Given the description of an element on the screen output the (x, y) to click on. 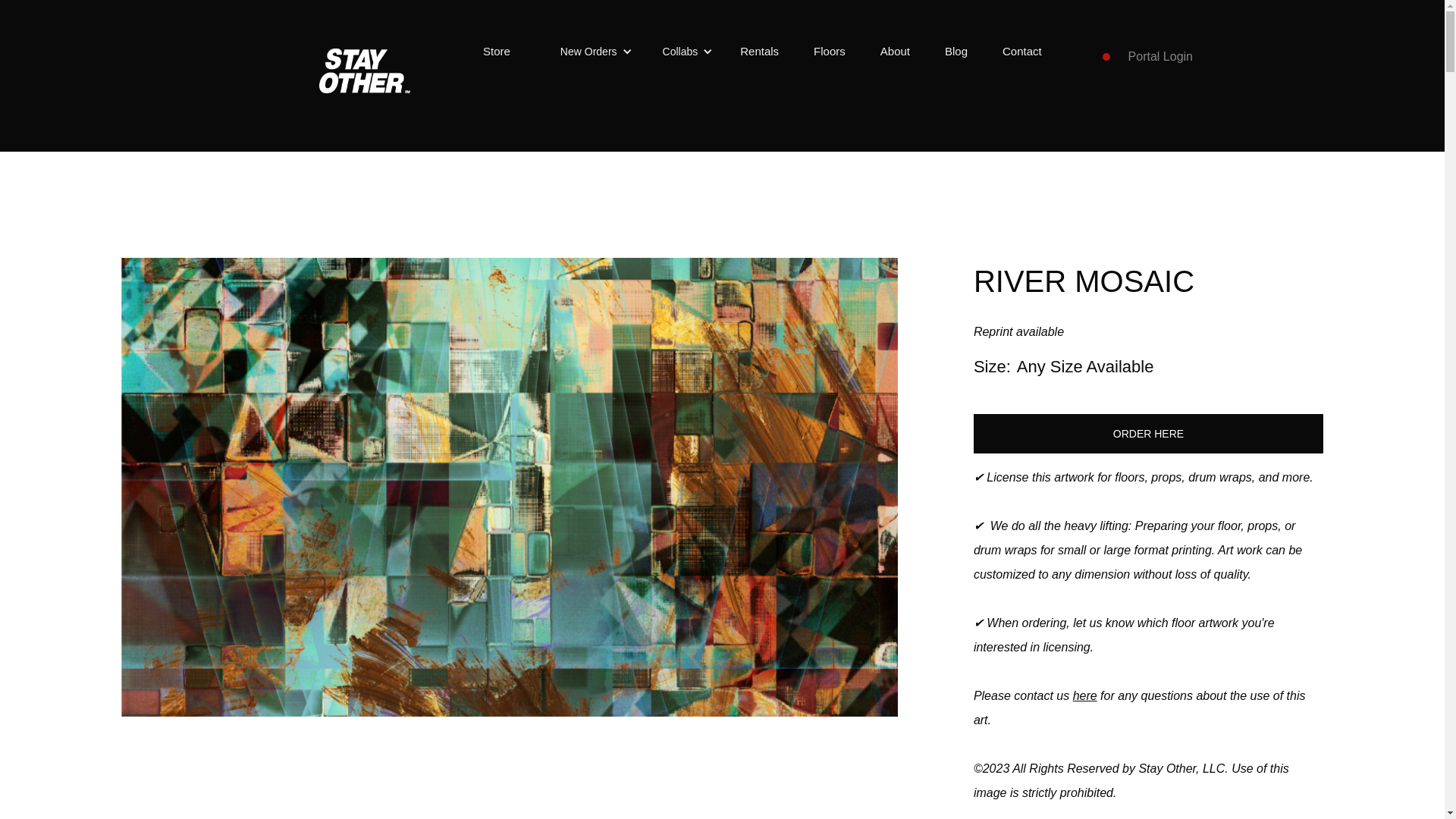
About (895, 51)
Rentals (758, 51)
Floors (829, 51)
Portal Login (1160, 57)
ORDER HERE (1148, 433)
here (1085, 695)
Store (497, 51)
Contact (1022, 51)
